Given the description of an element on the screen output the (x, y) to click on. 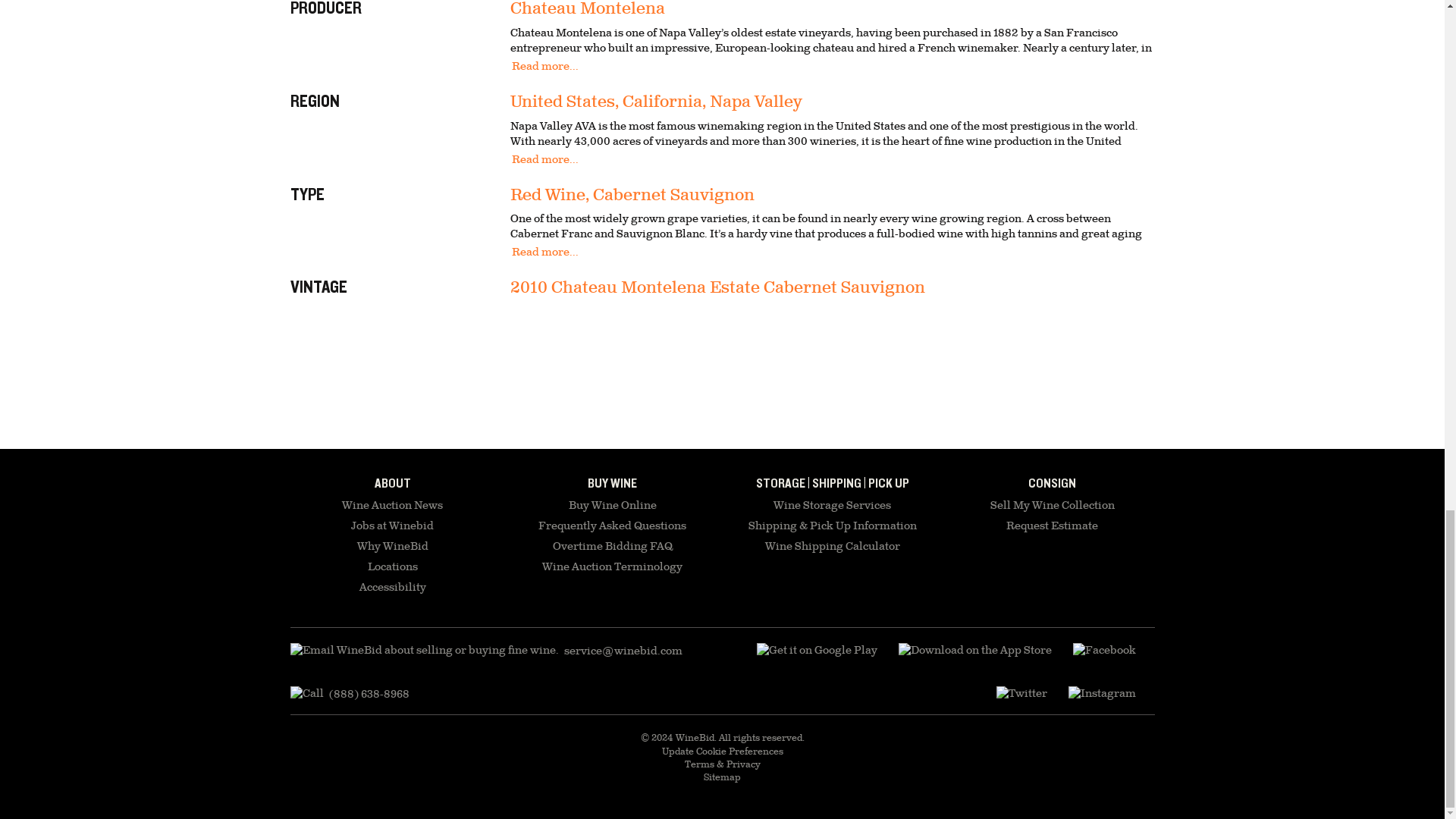
Call WineBid about selling or buying fine wine. (349, 694)
Download on the App Store (974, 650)
Email (485, 650)
Facebook (1103, 650)
Download on the App Store (817, 650)
Twitter (1020, 694)
Instagram (1101, 694)
